Given the description of an element on the screen output the (x, y) to click on. 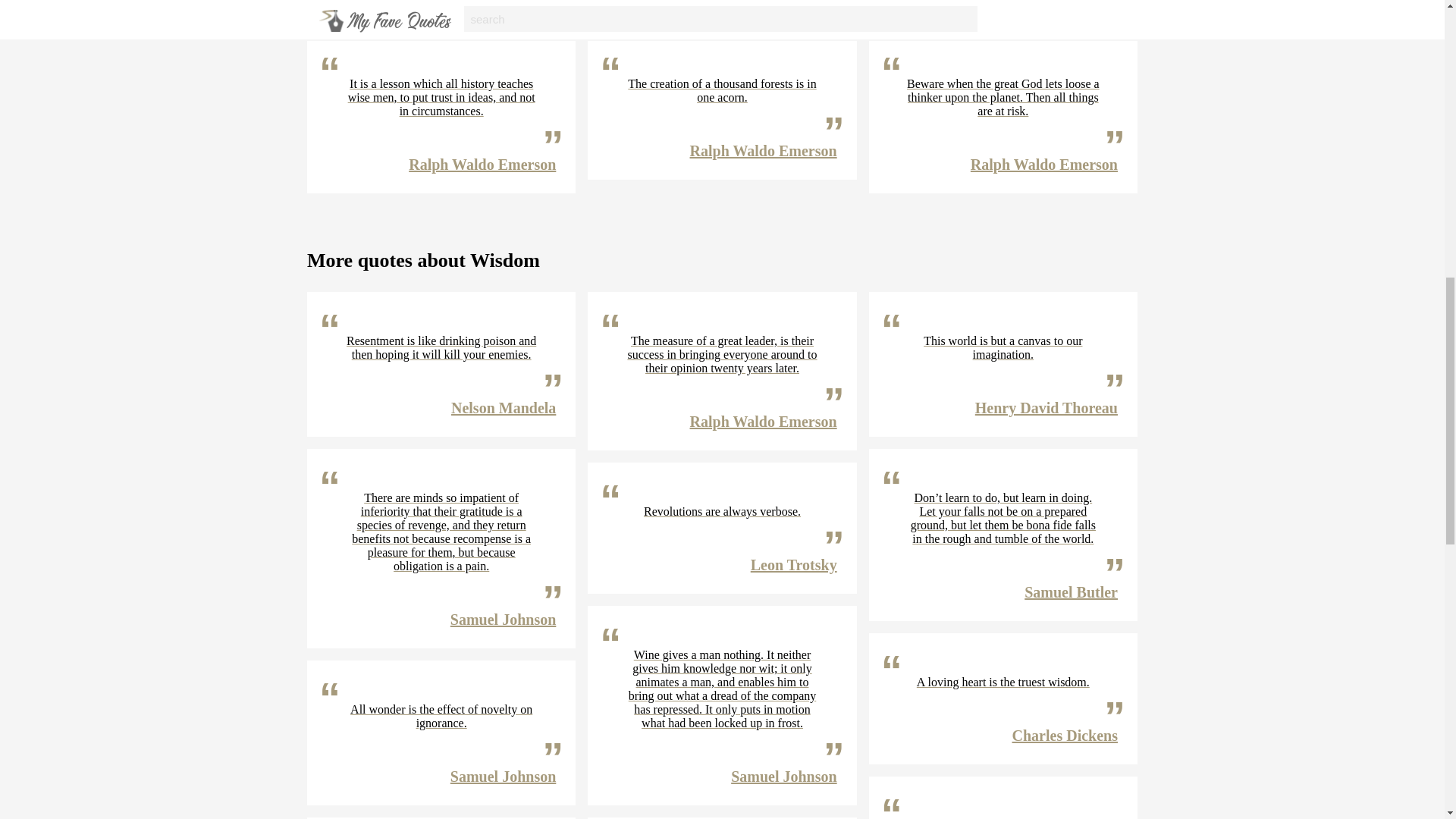
Ralph Waldo Emerson (1044, 1)
Samuel Johnson (502, 619)
Nelson Mandela (503, 407)
Ralph Waldo Emerson (482, 164)
Ralph Waldo Emerson (763, 1)
Ralph Waldo Emerson (482, 1)
The creation of a thousand forests is in one acorn. (721, 90)
Samuel Johnson (502, 776)
All wonder is the effect of novelty on ignorance. (440, 716)
Ralph Waldo Emerson (763, 150)
Ralph Waldo Emerson (1044, 164)
